Given the description of an element on the screen output the (x, y) to click on. 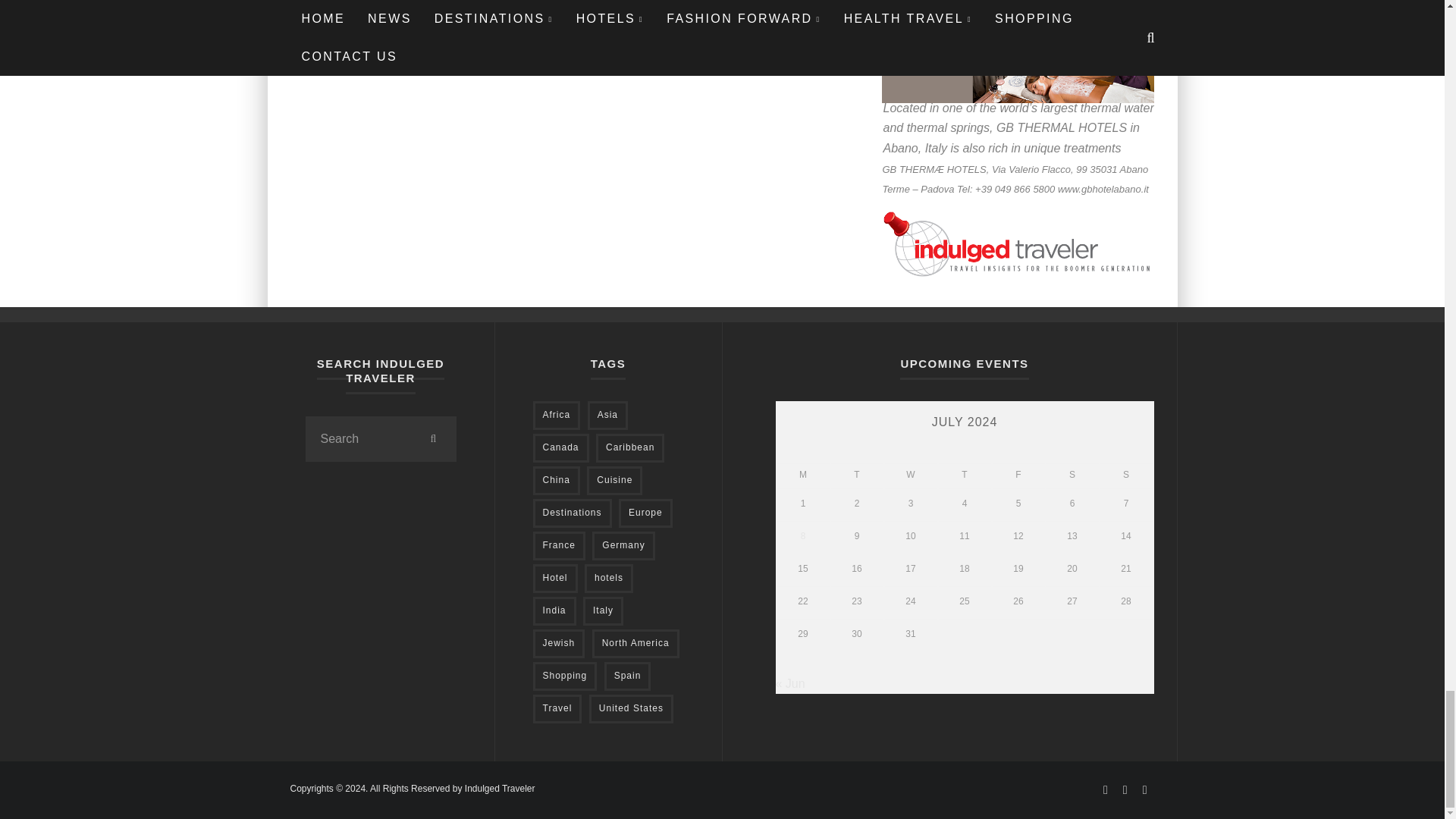
Saturday (1072, 474)
Wednesday (909, 474)
Sunday (1125, 474)
Monday (802, 474)
Friday (1017, 474)
Thursday (965, 474)
Tuesday (857, 474)
